Given the description of an element on the screen output the (x, y) to click on. 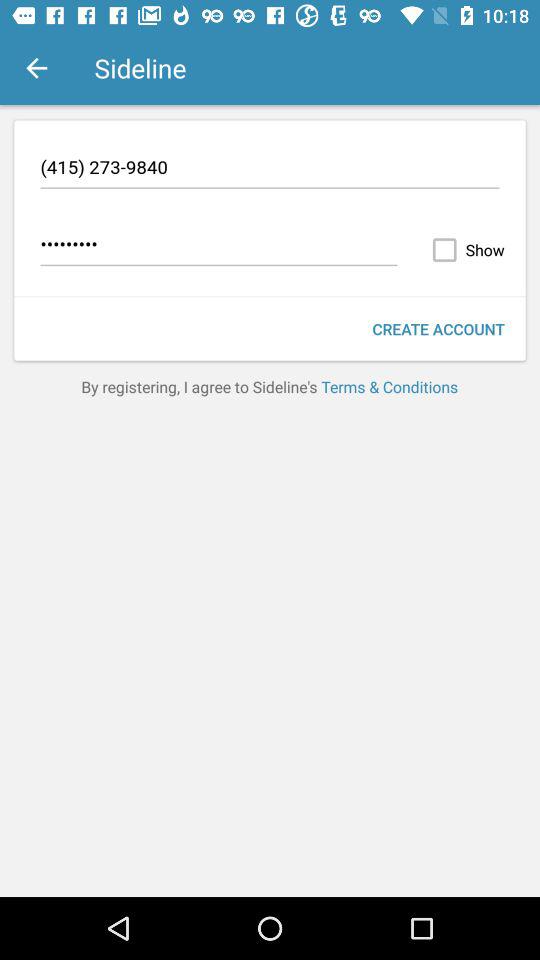
launch (415) 273-9840 icon (269, 170)
